Given the description of an element on the screen output the (x, y) to click on. 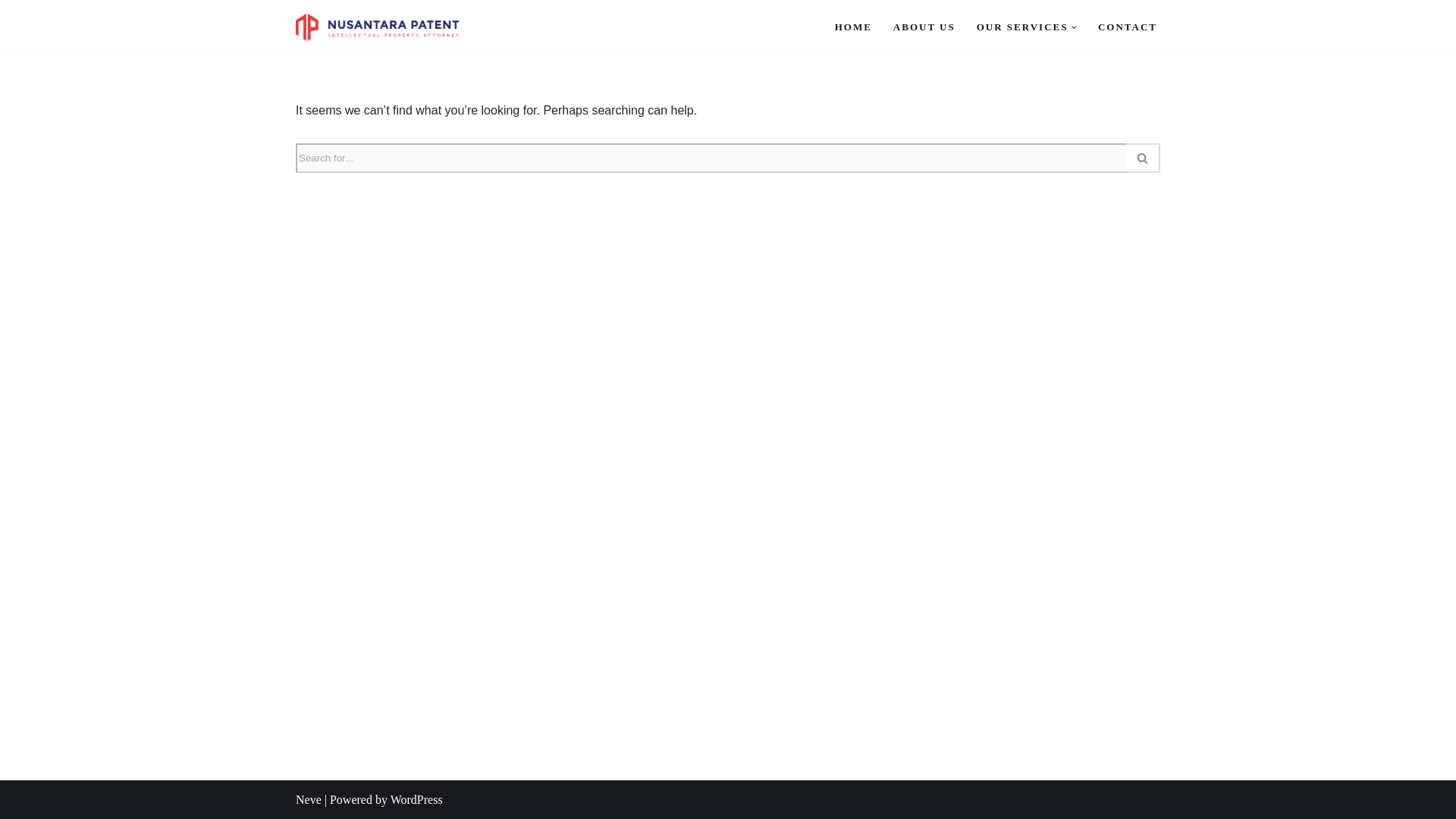
ABOUT US (924, 26)
Neve (308, 799)
HOME (853, 26)
CONTACT (1127, 26)
Skip to content (11, 31)
WordPress (416, 799)
OUR SERVICES (1022, 26)
